Given the description of an element on the screen output the (x, y) to click on. 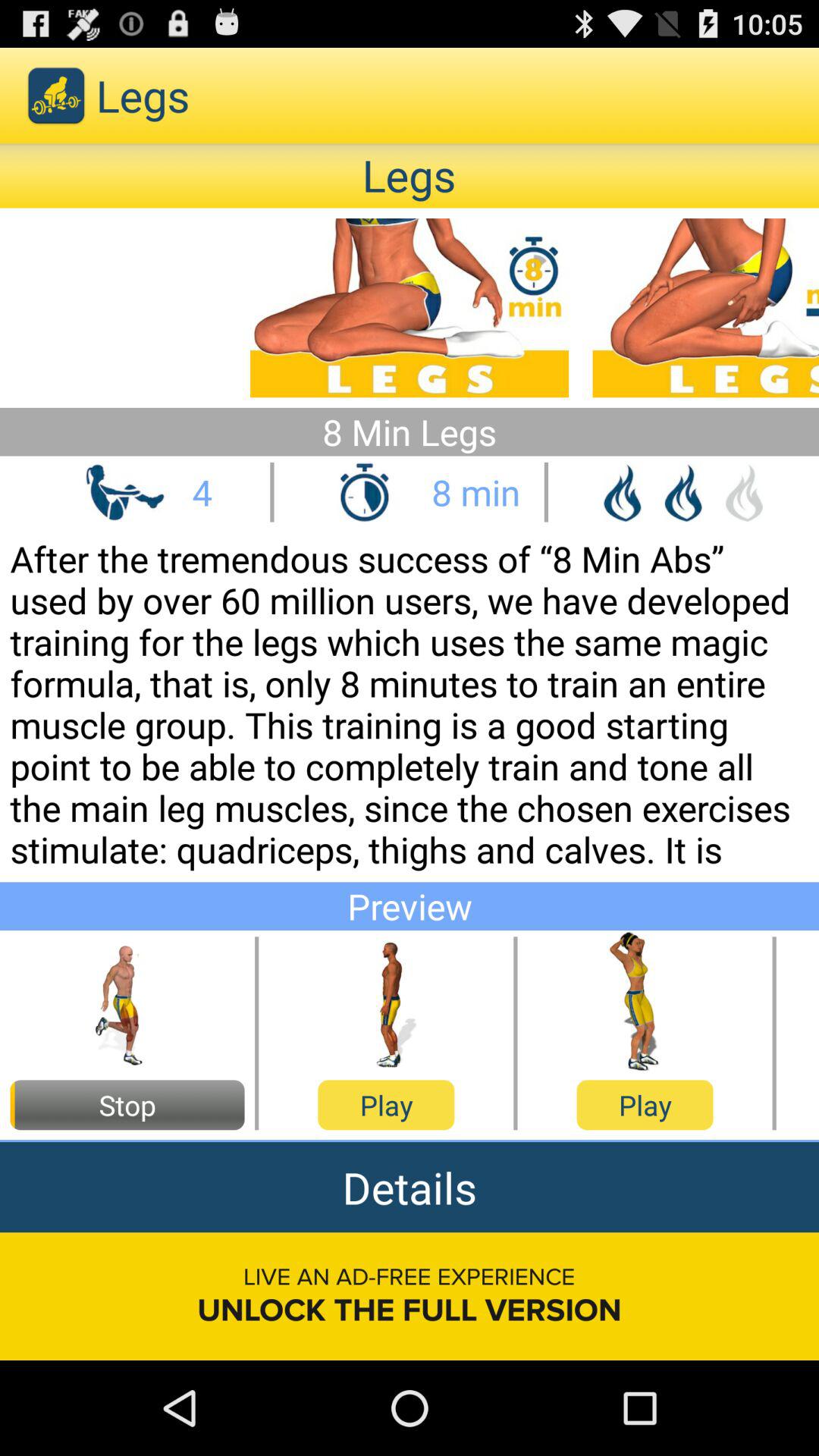
click play (385, 1001)
